Given the description of an element on the screen output the (x, y) to click on. 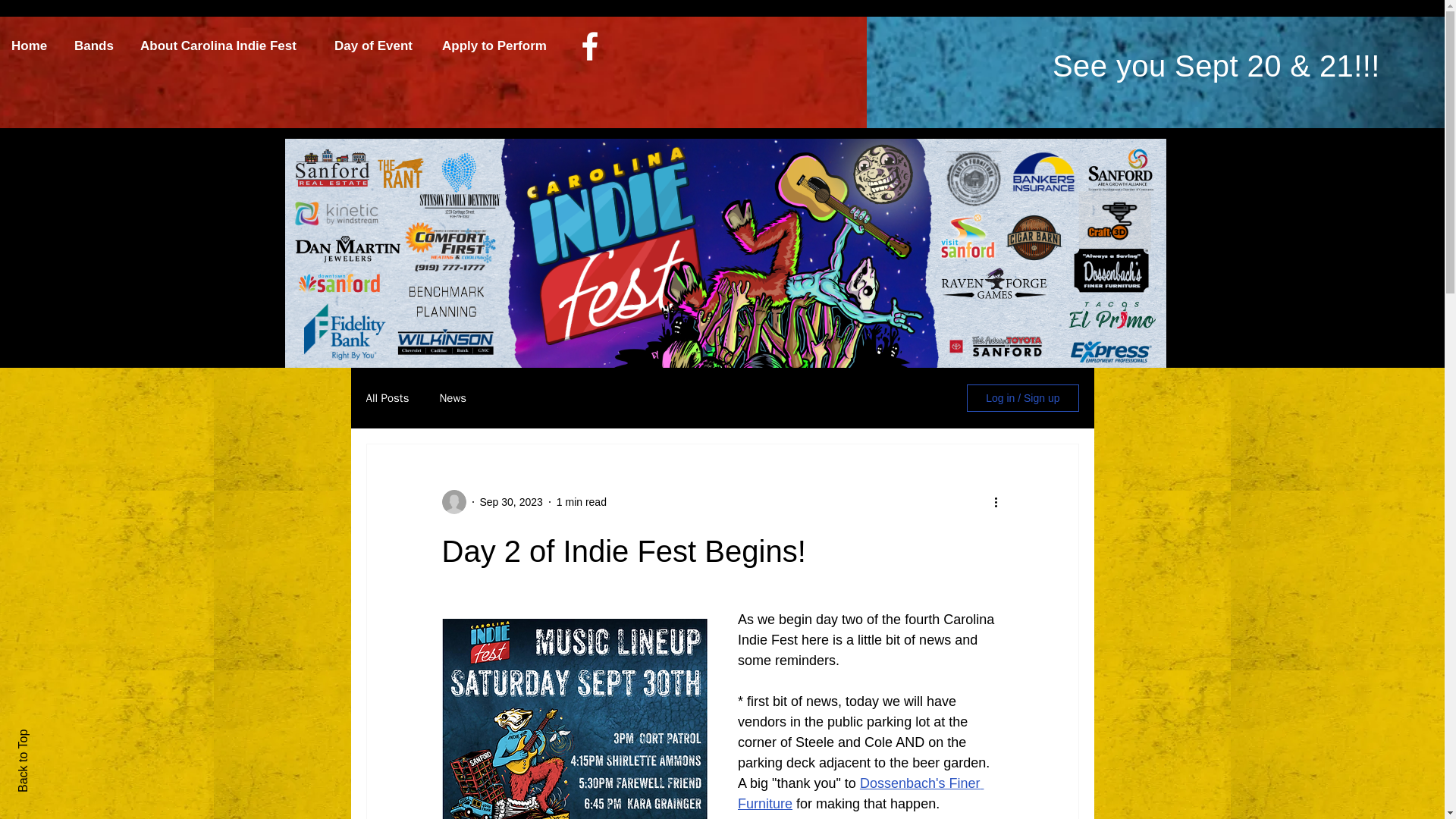
News (452, 398)
Sep 30, 2023 (510, 501)
All Posts (387, 398)
Back to Top (48, 735)
About Carolina Indie Fest (226, 46)
Bands (95, 46)
Day of Event (376, 46)
Home (31, 46)
1 min read (581, 501)
Apply to Perform (499, 46)
